Given the description of an element on the screen output the (x, y) to click on. 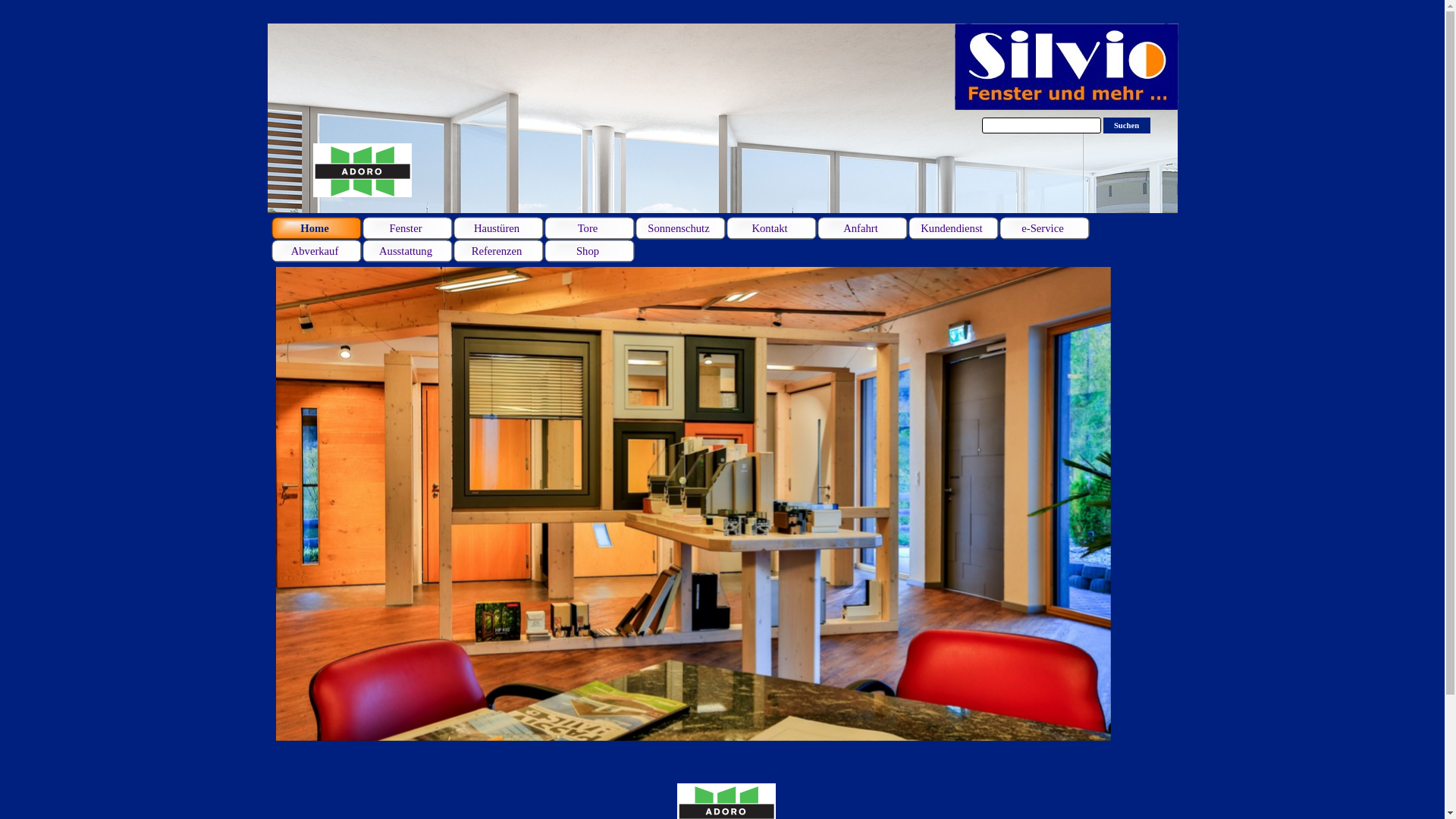
Home Element type: text (316, 227)
Shop Element type: text (589, 250)
Kundendienst Element type: text (953, 227)
Anfahrt Element type: text (862, 227)
Abverkauf Element type: text (316, 250)
Sonnenschutz Element type: text (680, 227)
Ausstattung Element type: text (407, 250)
Suchen Element type: text (1125, 125)
Kontakt Element type: text (771, 227)
Tore Element type: text (589, 227)
Referenzen Element type: text (498, 250)
e-Service Element type: text (1044, 227)
